Given the description of an element on the screen output the (x, y) to click on. 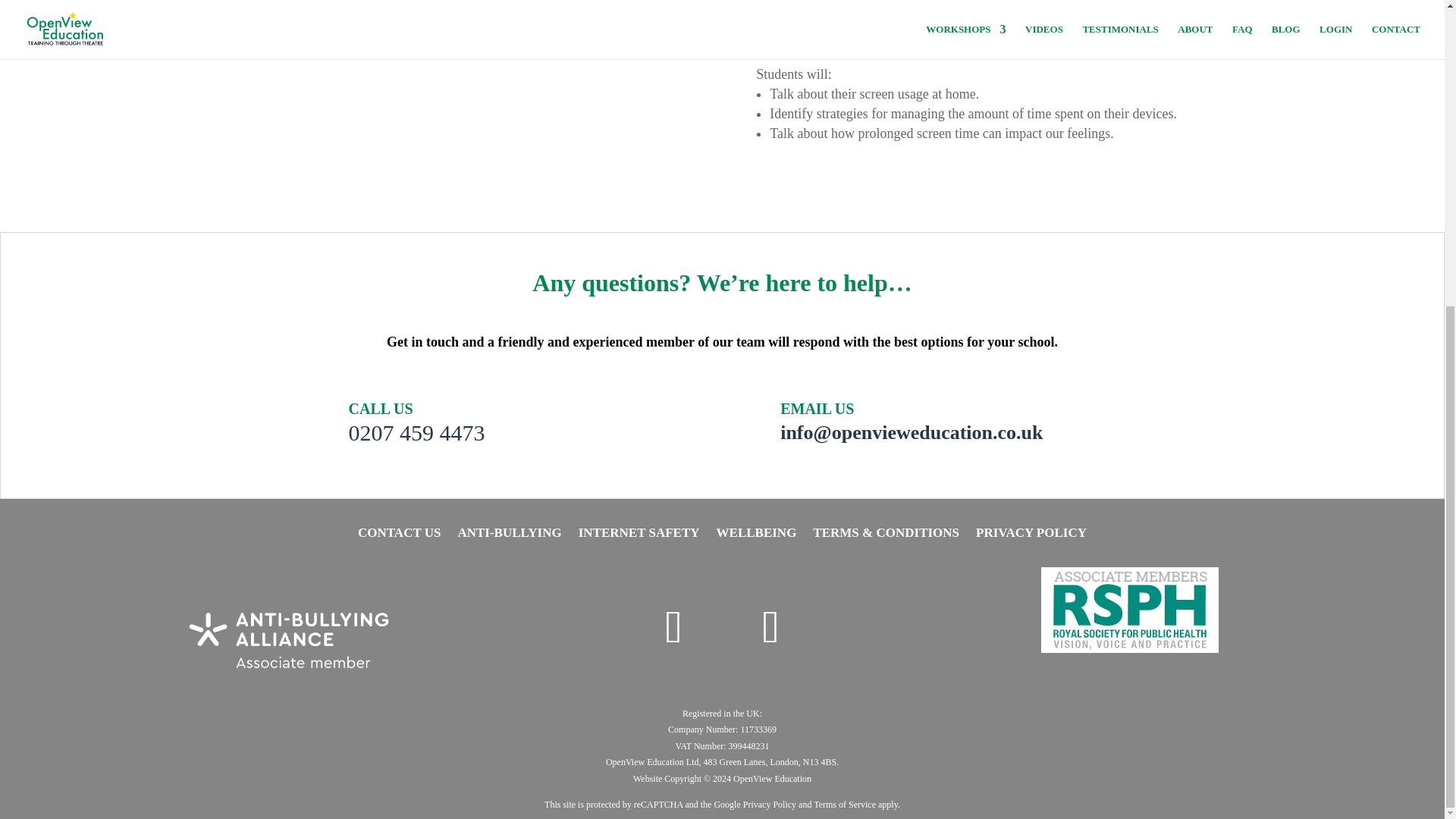
Follow on X (673, 626)
CONTACT US (399, 535)
PRIVACY POLICY (1030, 535)
Follow on Facebook (770, 626)
ANTI-BULLYING (508, 535)
Royal Society of Public Health Logo (1129, 609)
INTERNET SAFETY (639, 535)
WELLBEING (756, 535)
